Given the description of an element on the screen output the (x, y) to click on. 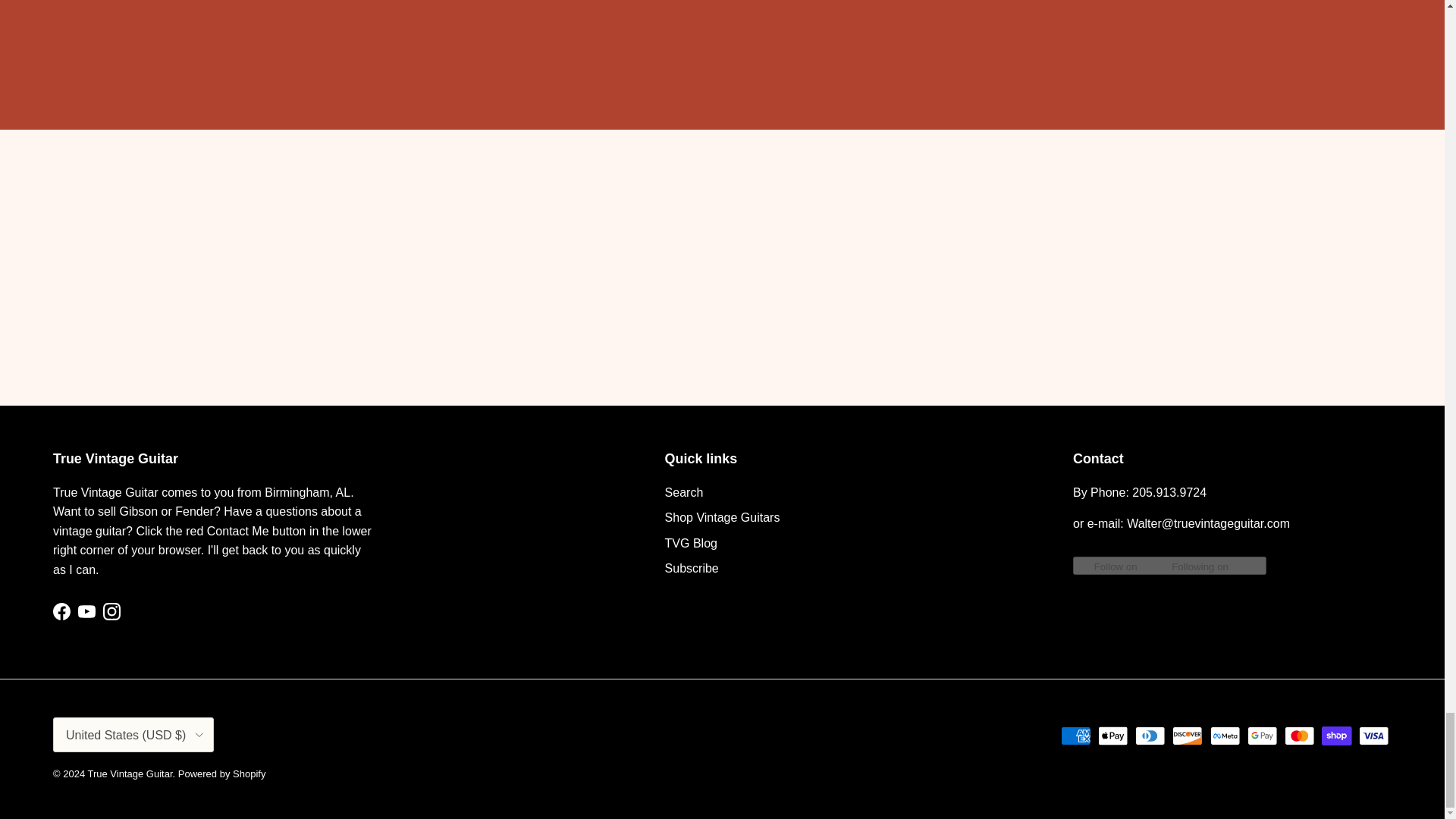
Diners Club (1149, 735)
American Express (1075, 735)
True Vintage Guitar on Instagram (111, 610)
True Vintage Guitar on Facebook (60, 610)
Mastercard (1299, 735)
Apple Pay (1112, 735)
Meta Pay (1224, 735)
Shop Pay (1336, 735)
Visa (1373, 735)
True Vintage Guitar on YouTube (87, 610)
Google Pay (1261, 735)
Discover (1187, 735)
